Given the description of an element on the screen output the (x, y) to click on. 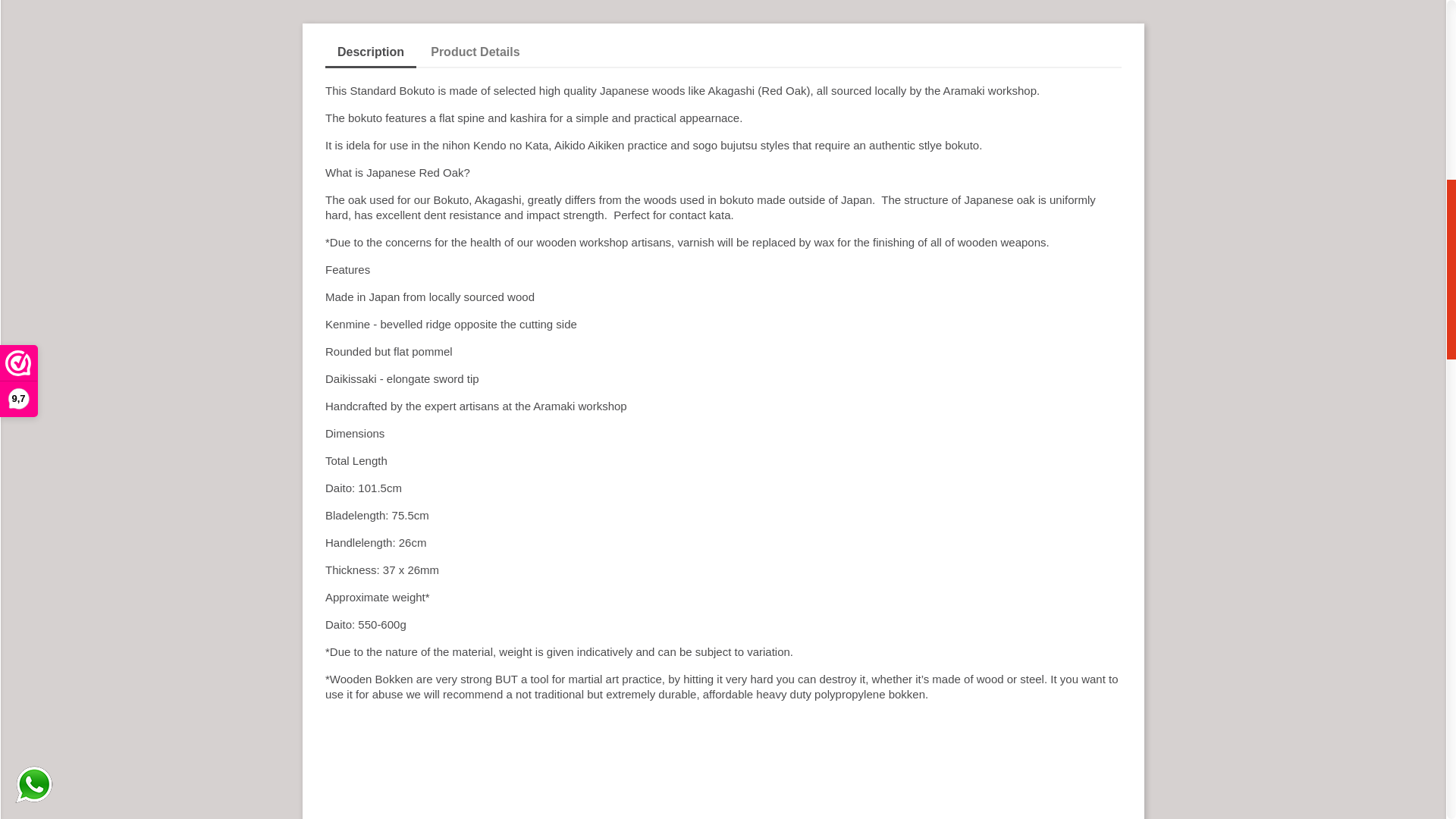
YouTube video player (536, 766)
